Given the description of an element on the screen output the (x, y) to click on. 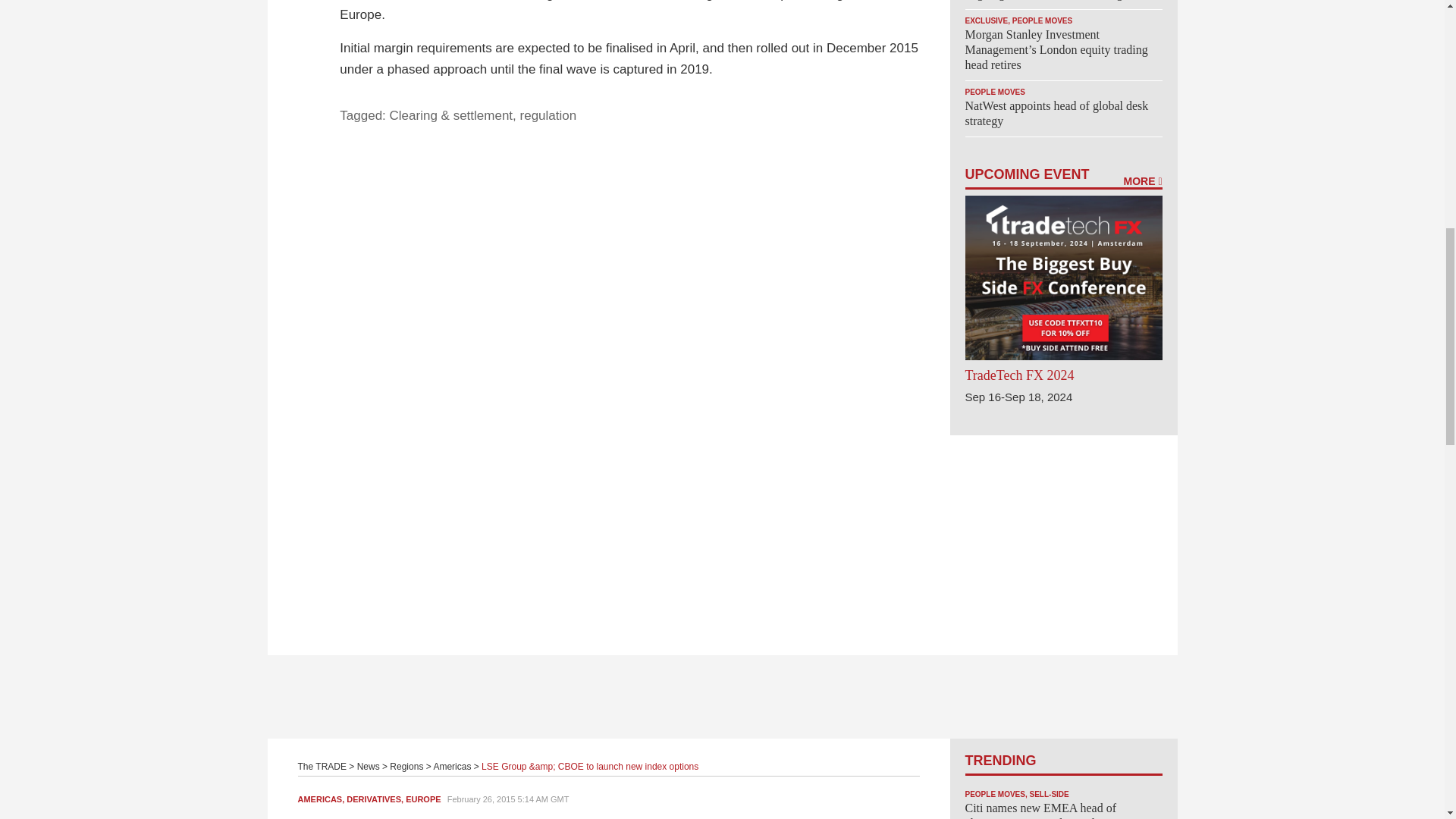
Go to the Regions Category archives. (406, 766)
3rd party ad content (722, 696)
Go to the Americas Category archives. (451, 766)
3rd party ad content (1062, 529)
Go to the News Category archives. (368, 766)
Go to The TRADE. (321, 766)
